Given the description of an element on the screen output the (x, y) to click on. 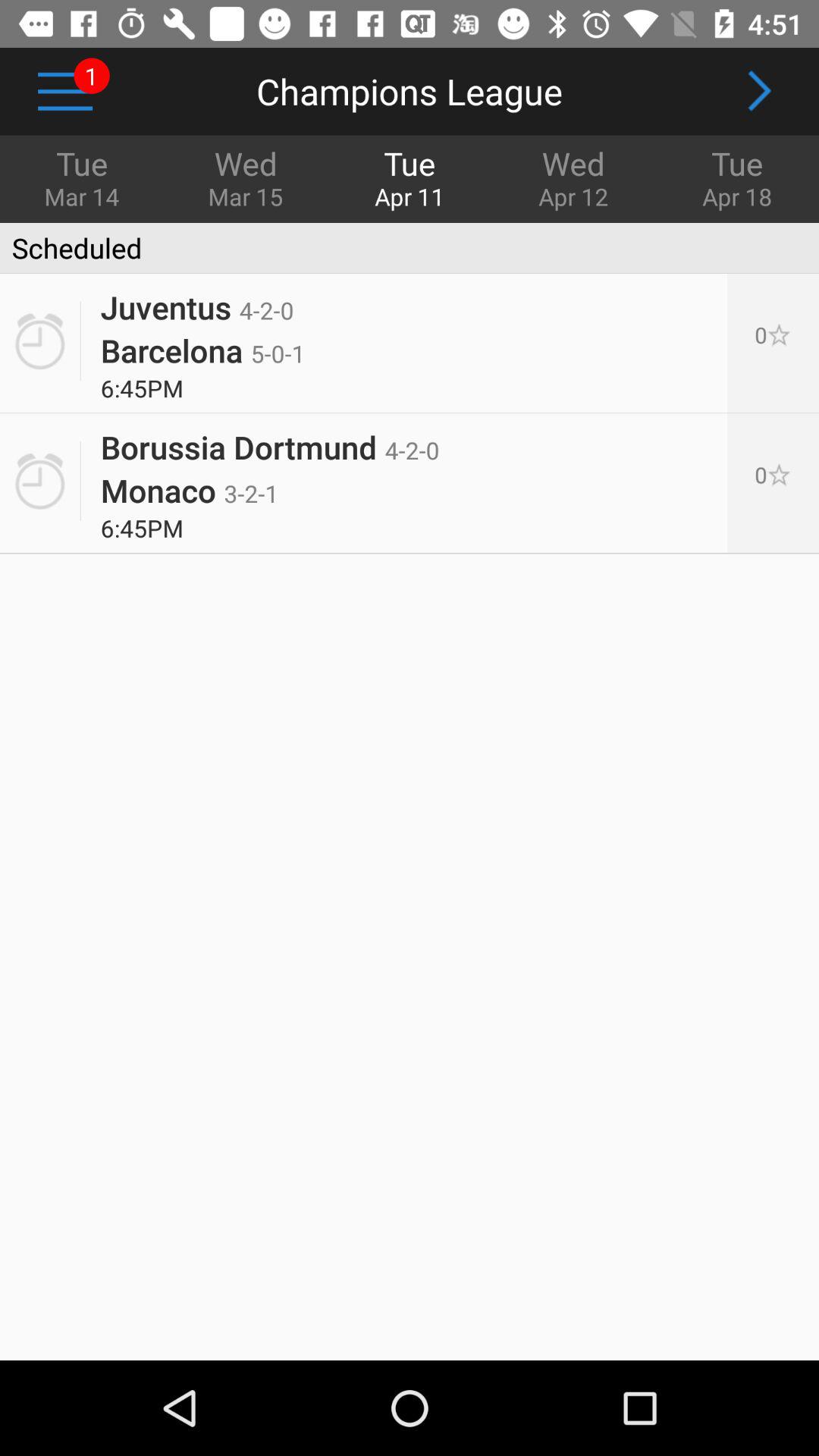
choose the icon below the tue
mar 14 icon (71, 247)
